Given the description of an element on the screen output the (x, y) to click on. 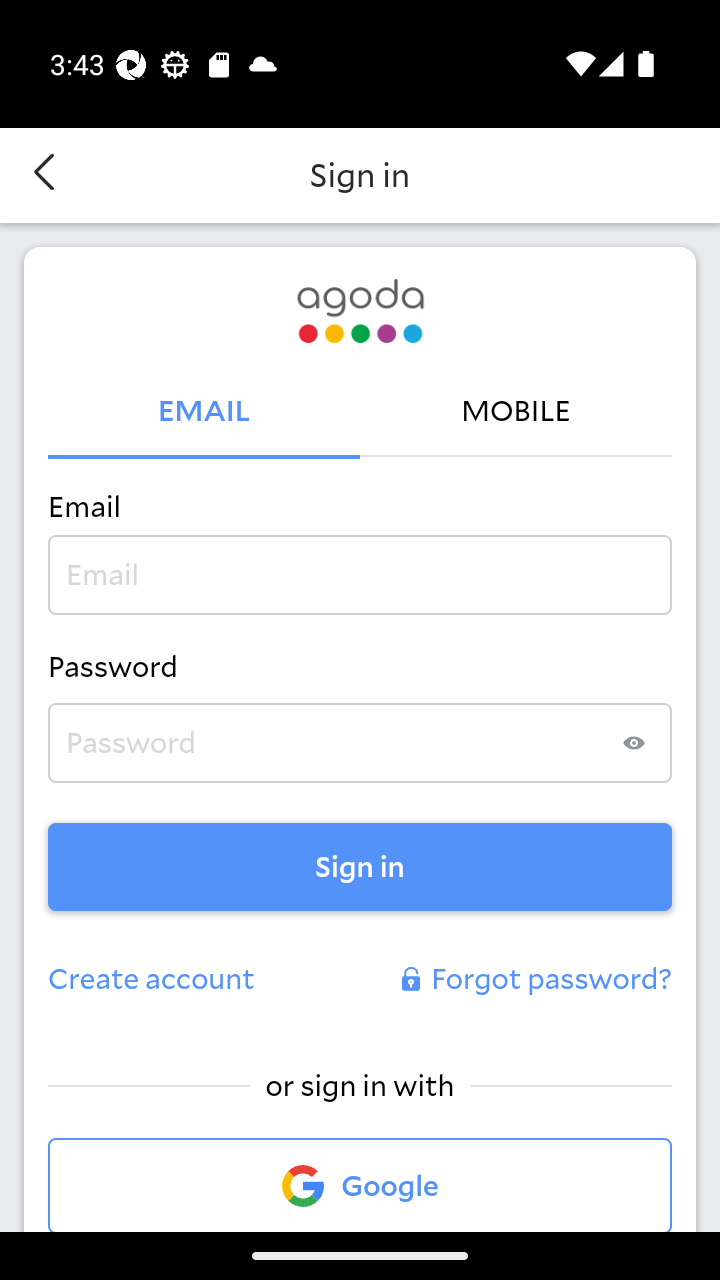
EMAIL (204, 412)
MOBILE (515, 412)
Sign in (359, 866)
Create account (152, 979)
Forgot password? (534, 979)
Google (359, 1183)
